Given the description of an element on the screen output the (x, y) to click on. 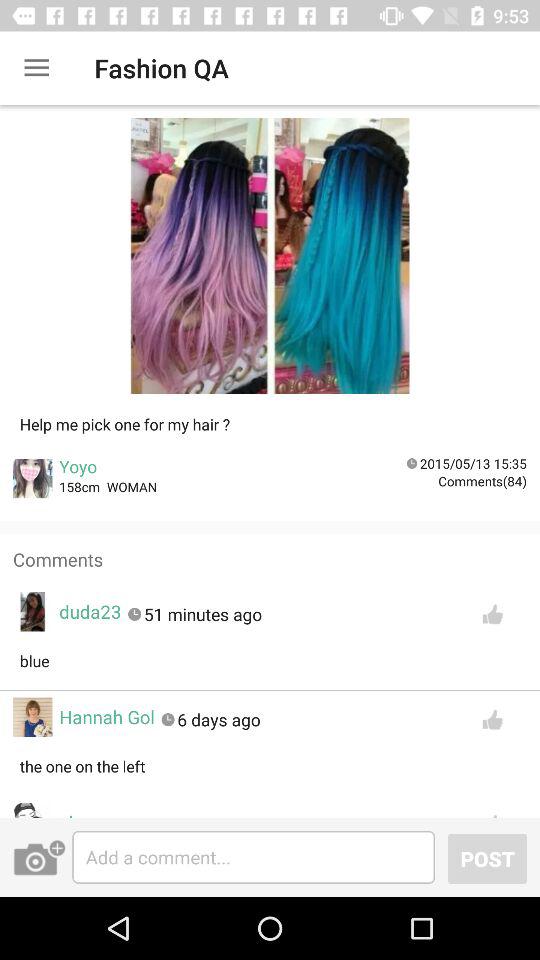
click the like symbol (492, 811)
